Given the description of an element on the screen output the (x, y) to click on. 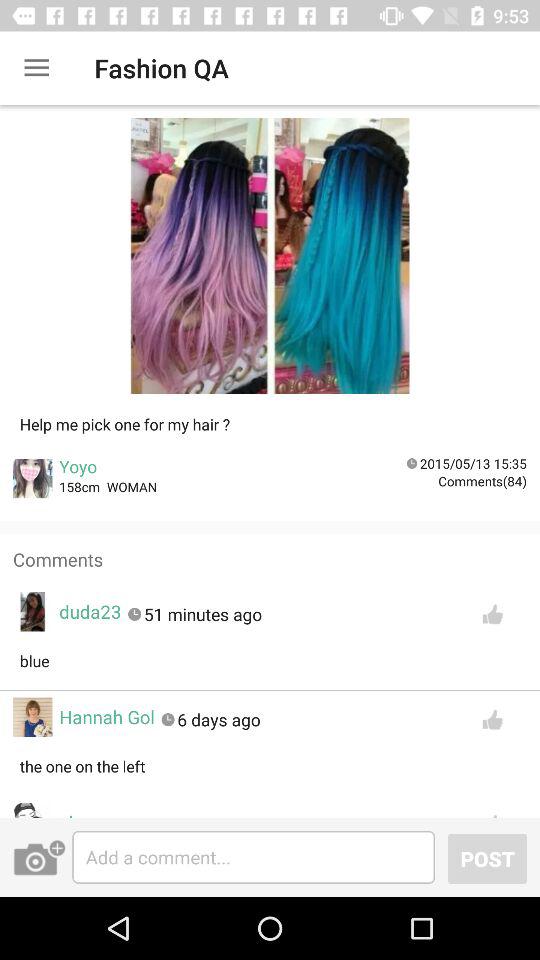
click the like symbol (492, 811)
